Given the description of an element on the screen output the (x, y) to click on. 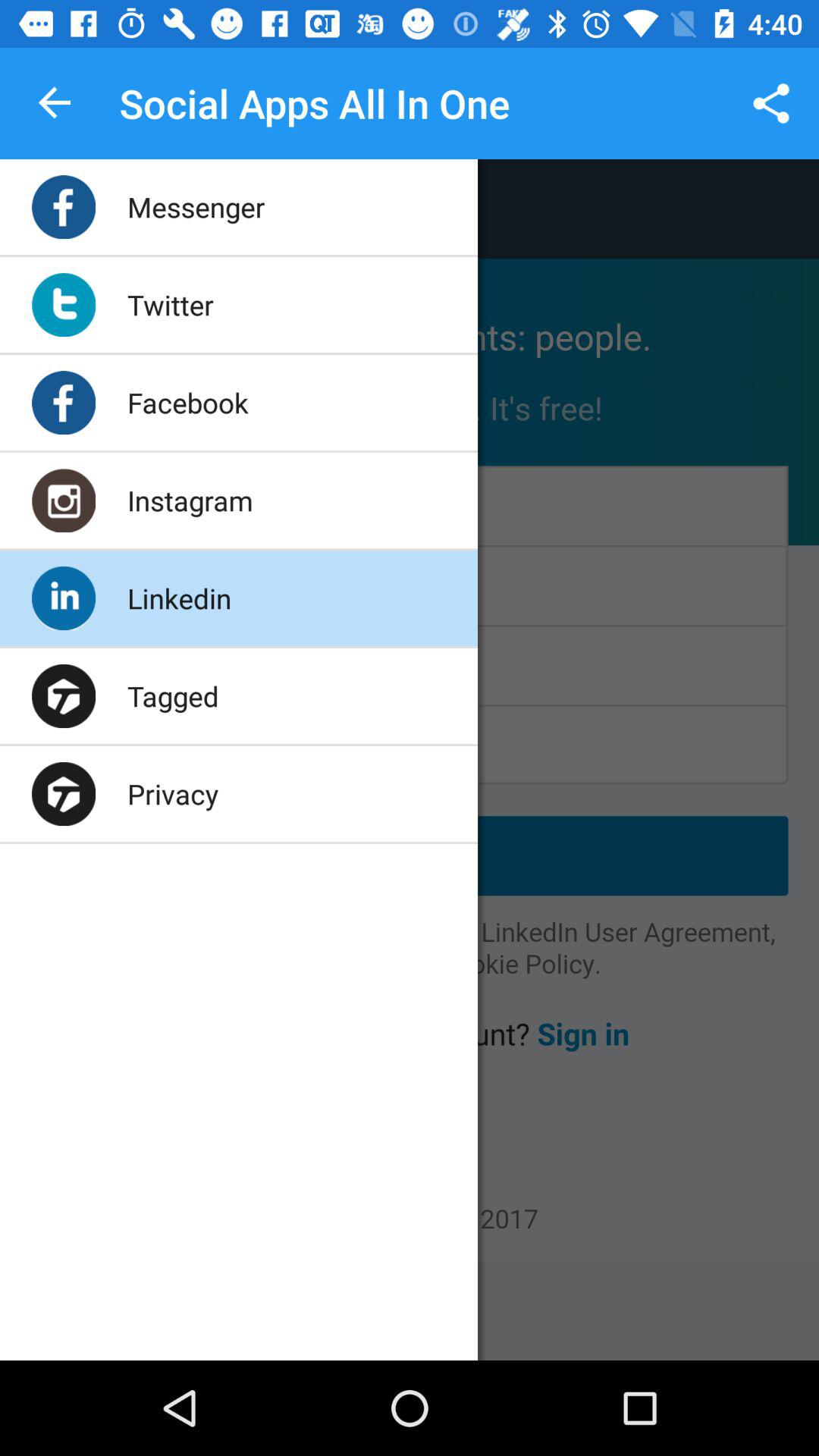
select app to the right of the social apps all icon (771, 103)
